Given the description of an element on the screen output the (x, y) to click on. 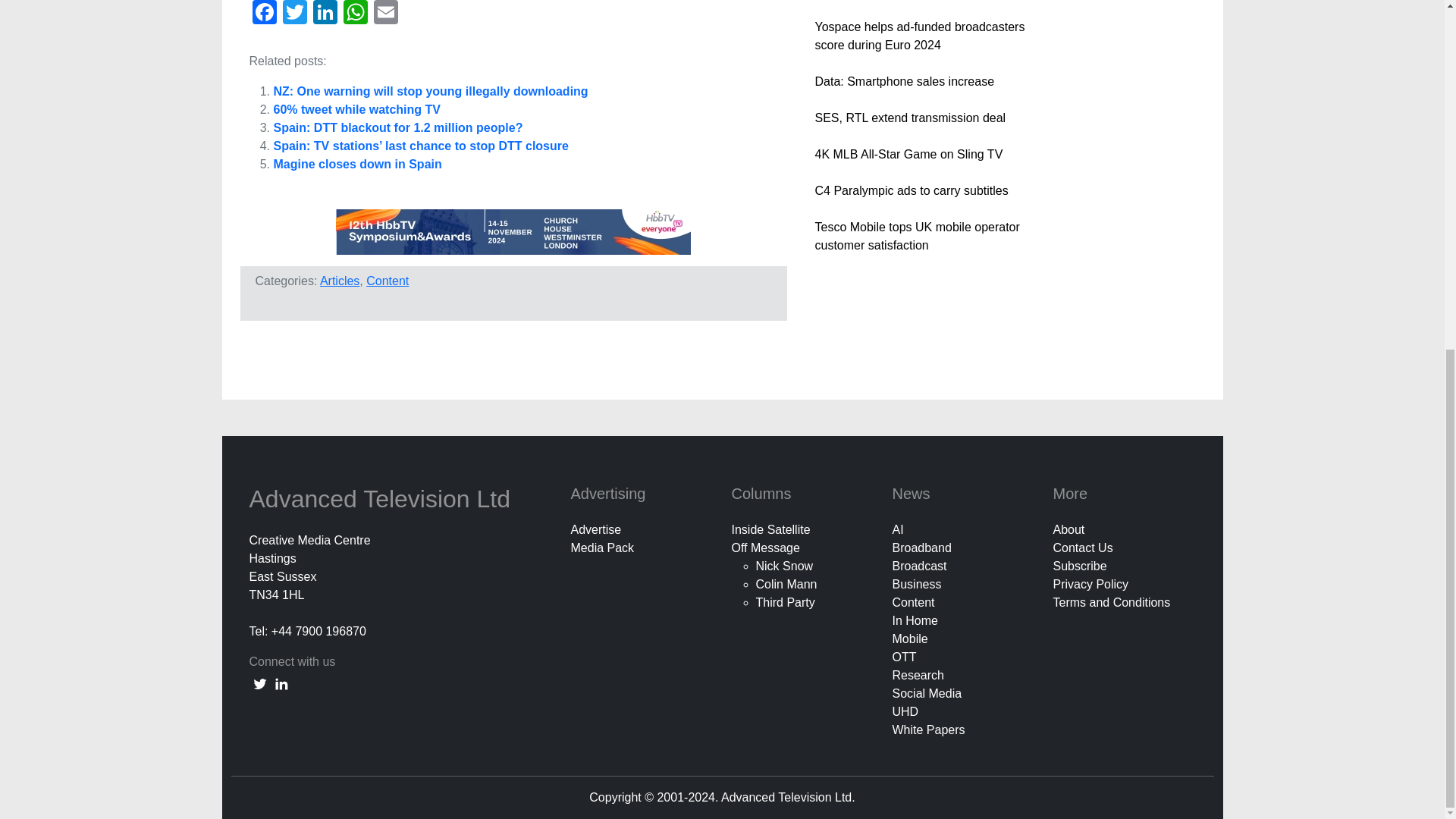
Spain: DTT blackout for 1.2 million people? (397, 127)
LinkedIn (323, 13)
Spain: DTT blackout for 1.2 million people? (397, 127)
Advanced Television Ltd  (382, 498)
Magine closes down in Spain (357, 164)
Content (387, 280)
NZ: One warning will stop young illegally downloading (430, 91)
Twitter (293, 13)
Tesco Mobile tops UK mobile operator customer satisfaction (916, 235)
NZ: One warning will stop young illegally downloading (430, 91)
Magine closes down in Spain (357, 164)
LinkedIn (323, 13)
Facebook (263, 13)
4K MLB All-Star Game on Sling TV (908, 154)
Email (384, 13)
